Given the description of an element on the screen output the (x, y) to click on. 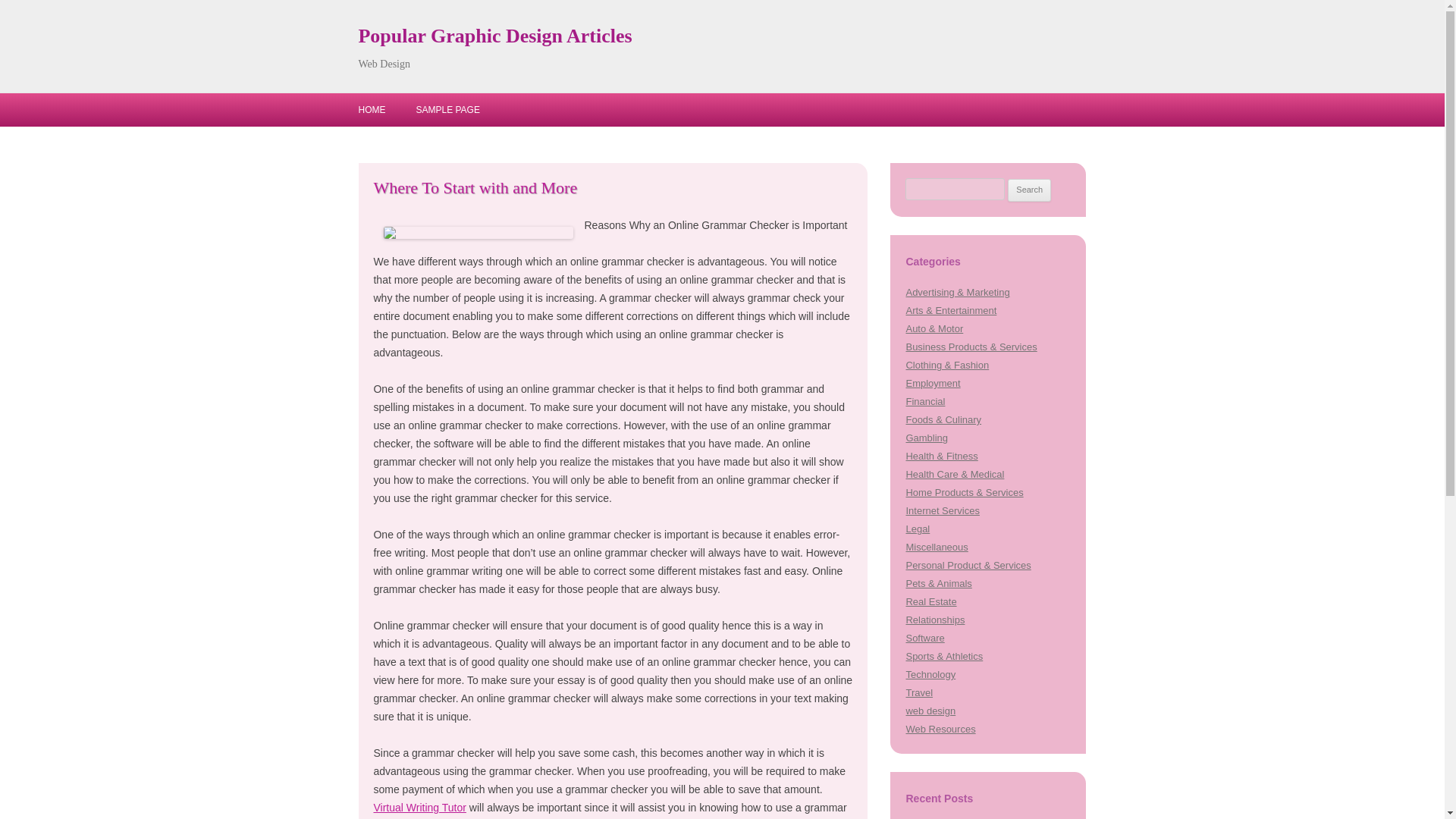
Popular Graphic Design Articles (494, 36)
Virtual Writing Tutor (418, 807)
Search (1029, 190)
HOME (371, 109)
Gambling (926, 437)
Software (924, 637)
Travel (919, 692)
Web Resources (940, 728)
SAMPLE PAGE (446, 109)
Technology (930, 674)
Popular Graphic Design Articles (494, 36)
Internet Services (941, 510)
Search (1029, 190)
